Given the description of an element on the screen output the (x, y) to click on. 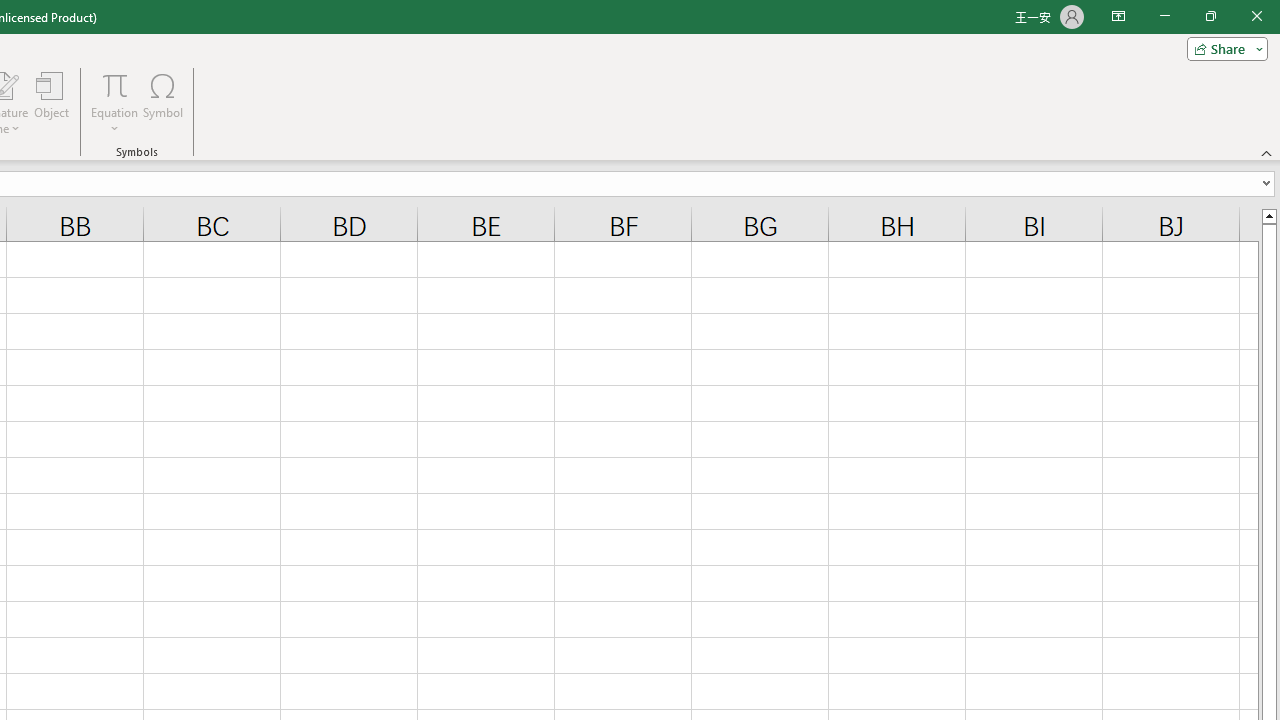
Restore Down (1210, 16)
Object... (51, 102)
Collapse the Ribbon (1267, 152)
Share (1223, 48)
Symbol... (162, 102)
Minimize (1164, 16)
Line up (1268, 215)
Equation (114, 102)
Equation (114, 84)
Ribbon Display Options (1118, 16)
